Given the description of an element on the screen output the (x, y) to click on. 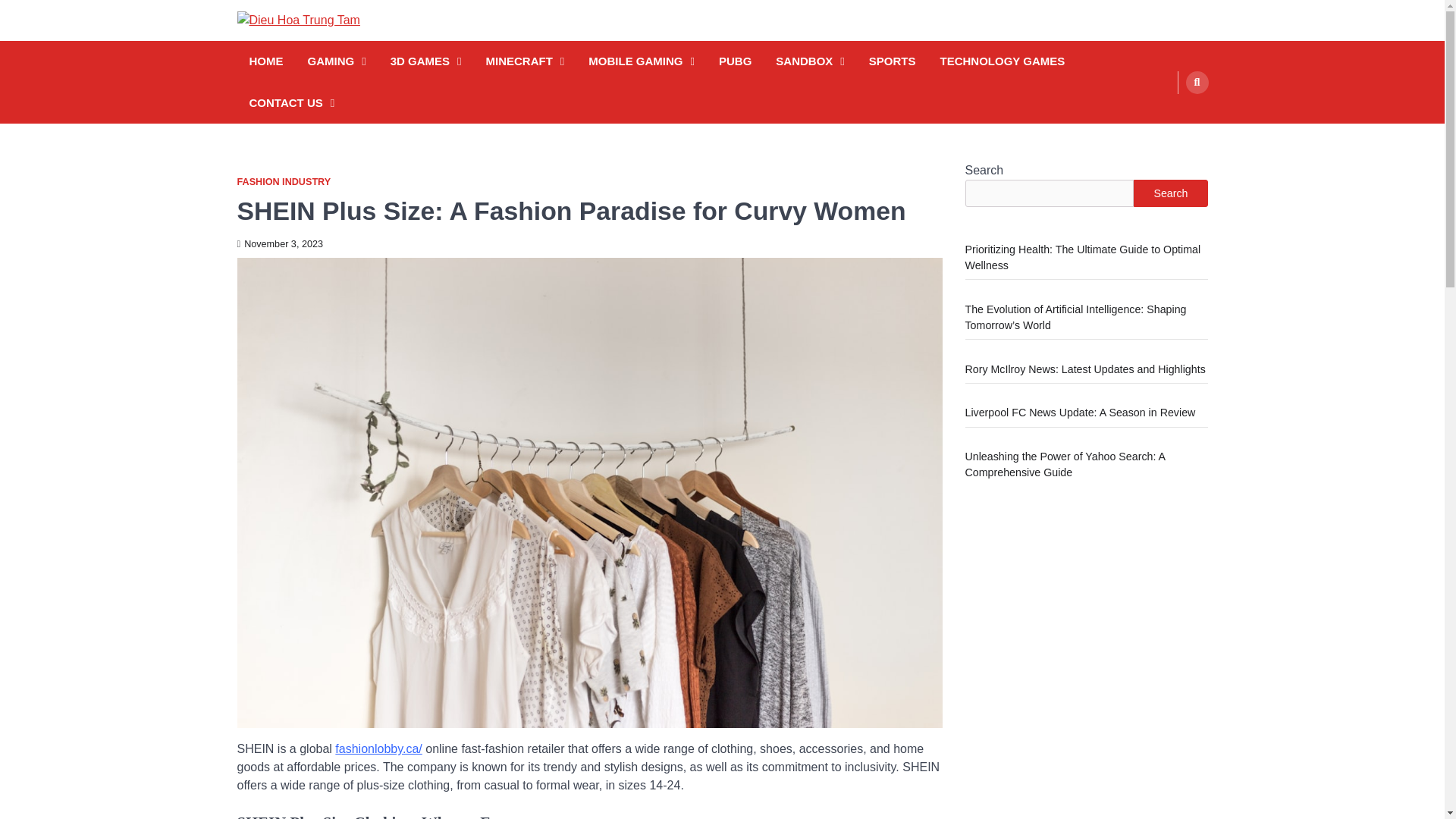
3D GAMES (425, 61)
GAMING (336, 61)
MOBILE GAMING (641, 61)
PUBG (735, 61)
TECHNOLOGY GAMES (1002, 61)
FASHION INDUSTRY (282, 182)
HOME (265, 61)
SANDBOX (810, 61)
Dieu Hoa Trung Tam (351, 44)
SPORTS (892, 61)
MINECRAFT (524, 61)
CONTACT US (291, 102)
Search (1197, 82)
Search (1168, 117)
November 3, 2023 (279, 244)
